Given the description of an element on the screen output the (x, y) to click on. 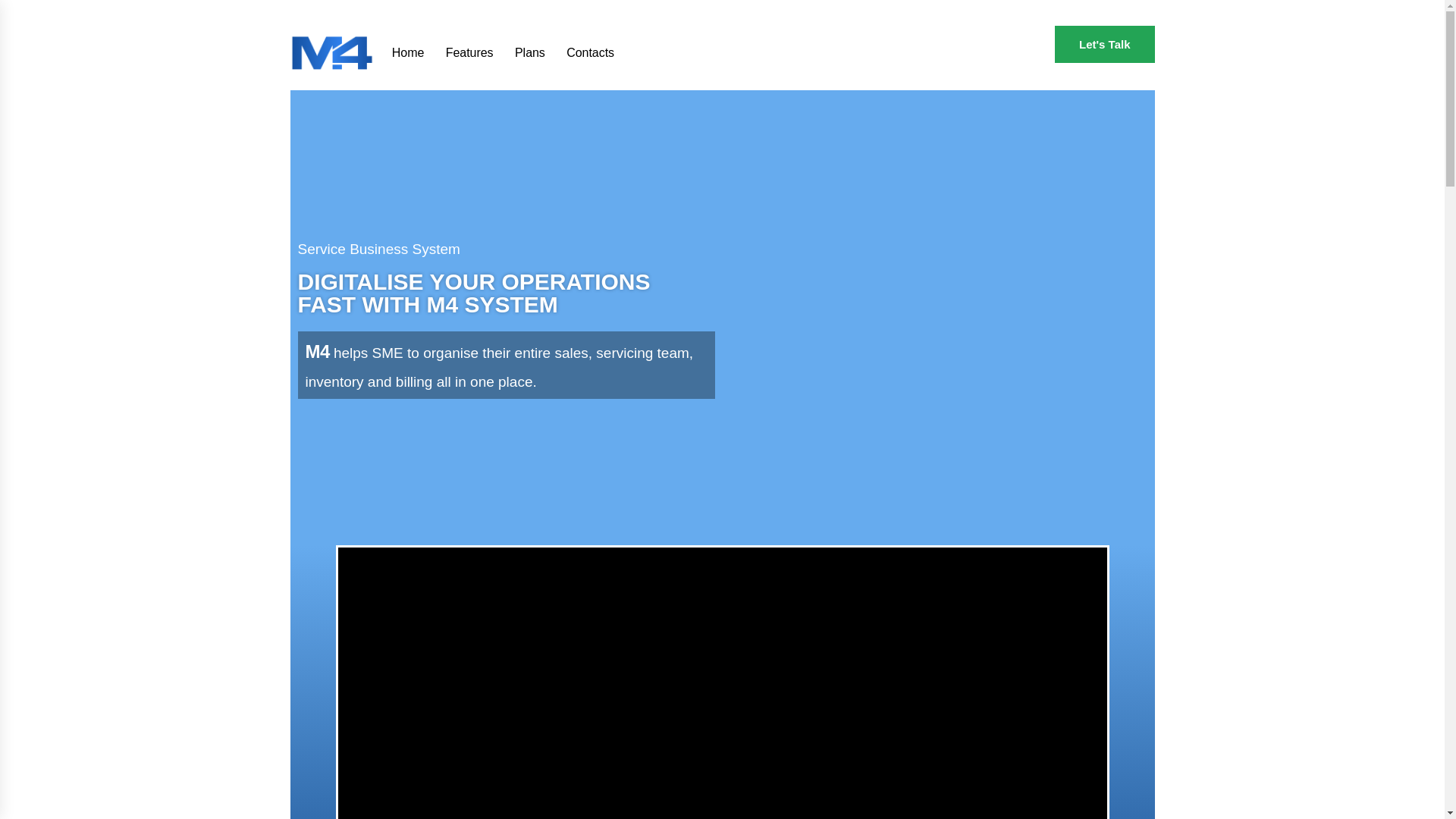
Features (460, 29)
Let'S Talk (1104, 44)
Contacts (581, 29)
